Given the description of an element on the screen output the (x, y) to click on. 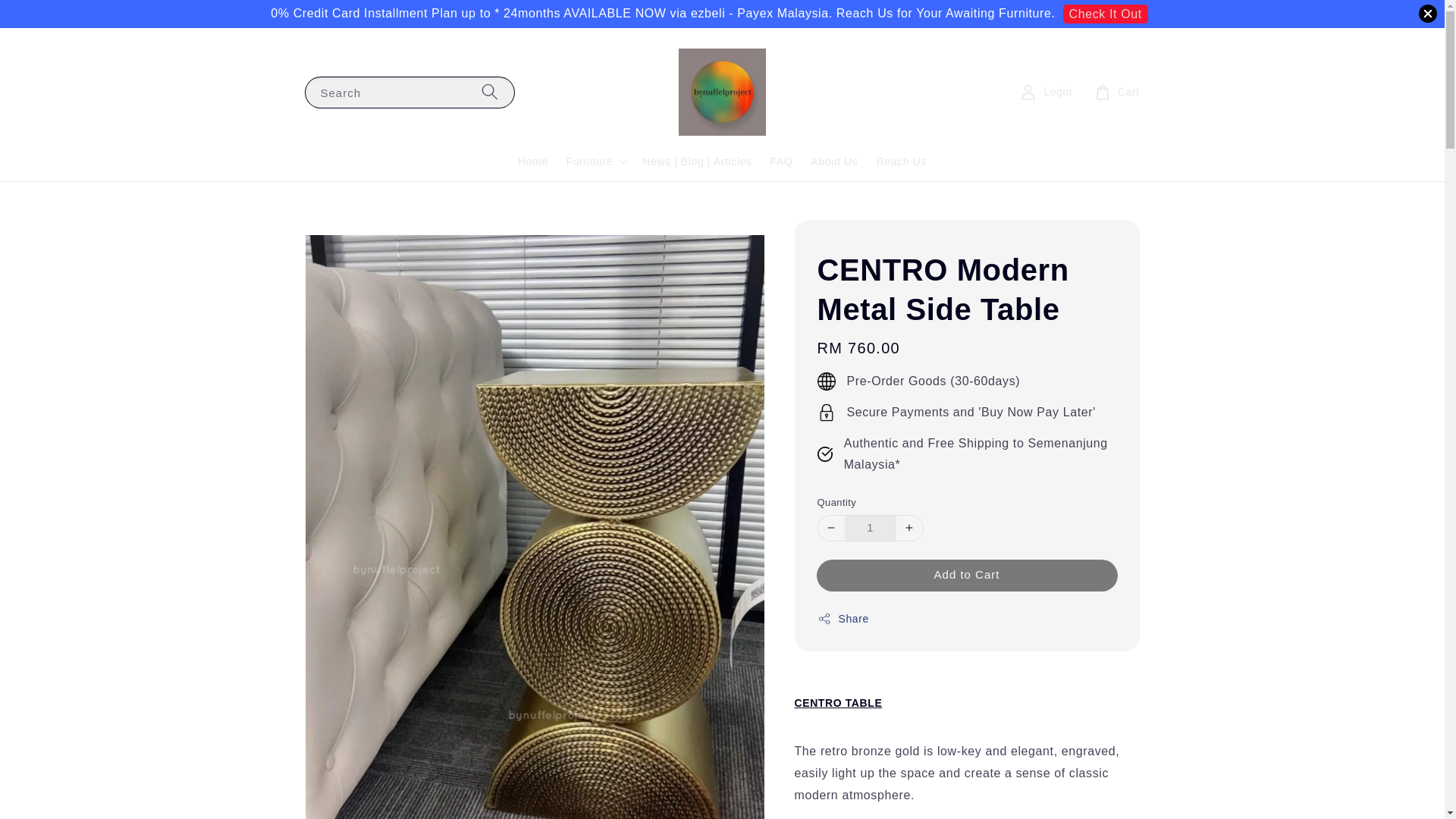
1 (870, 527)
Home (532, 161)
Check It Out (1105, 14)
